Given the description of an element on the screen output the (x, y) to click on. 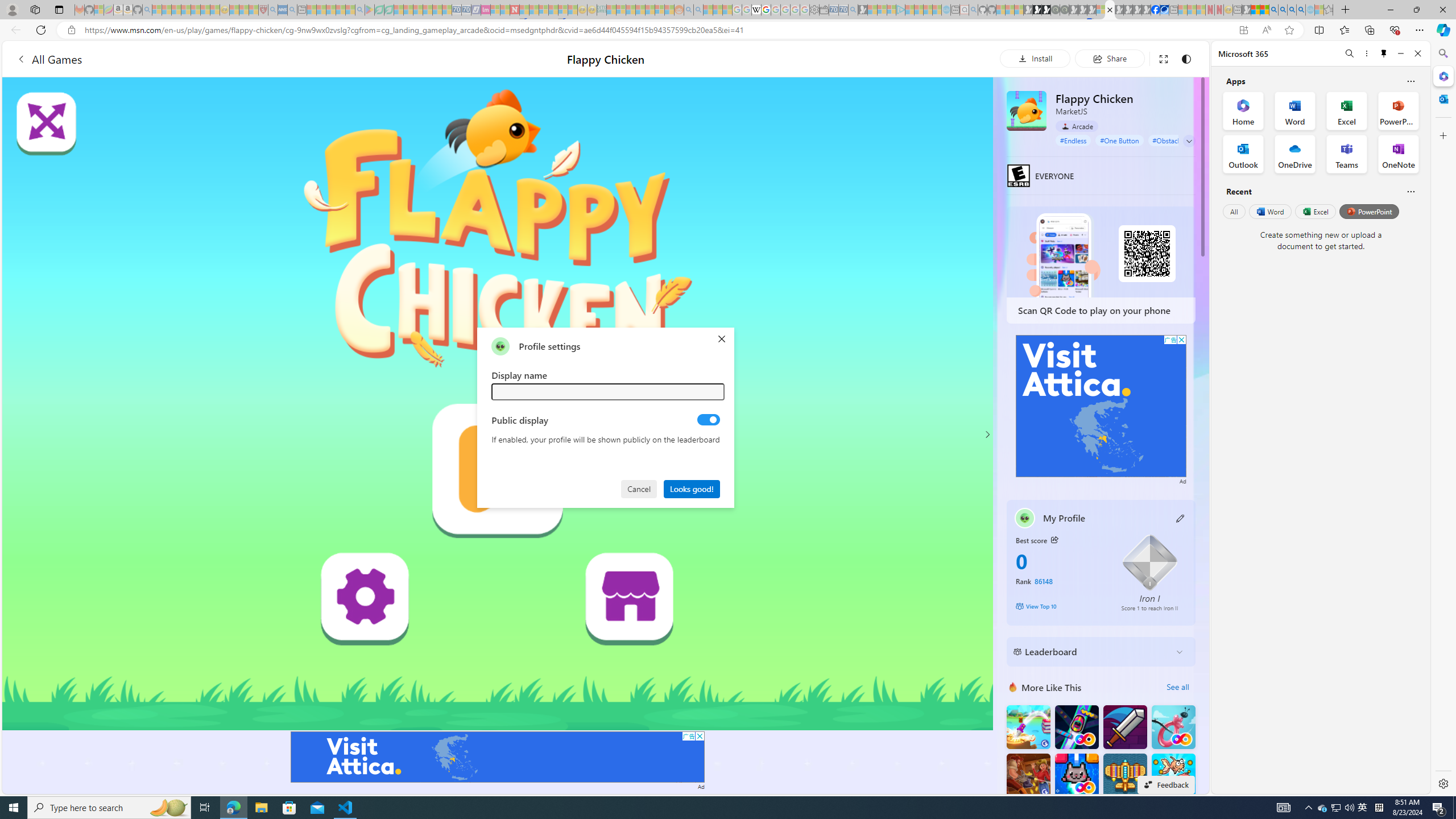
Close tab (1110, 9)
Future Focus Report 2024 - Sleeping (1064, 9)
Outlook Office App (1243, 154)
Full screen (1163, 58)
AutomationID: canvas (497, 403)
Microsoft-Report a Concern to Bing - Sleeping (98, 9)
Word (1269, 210)
Refresh (40, 29)
Microsoft Start - Sleeping (927, 9)
Advertisement (1101, 405)
OneNote Office App (1398, 154)
